Given the description of an element on the screen output the (x, y) to click on. 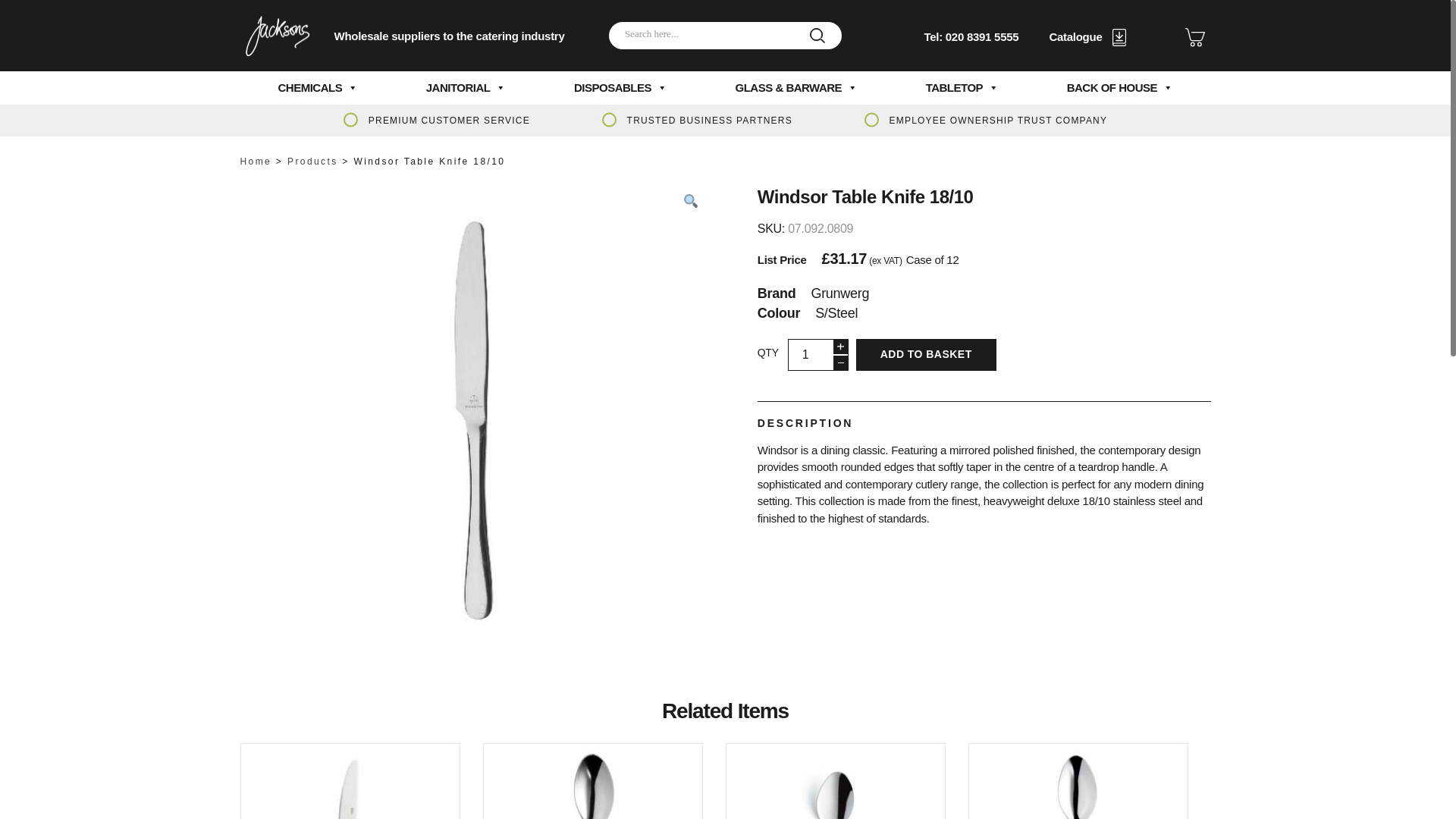
Catalogue (1086, 36)
CHEMICALS (317, 87)
JANITORIAL (465, 87)
1 (817, 355)
Wishlist (1194, 36)
Tel: 020 8391 5555 (970, 36)
